Given the description of an element on the screen output the (x, y) to click on. 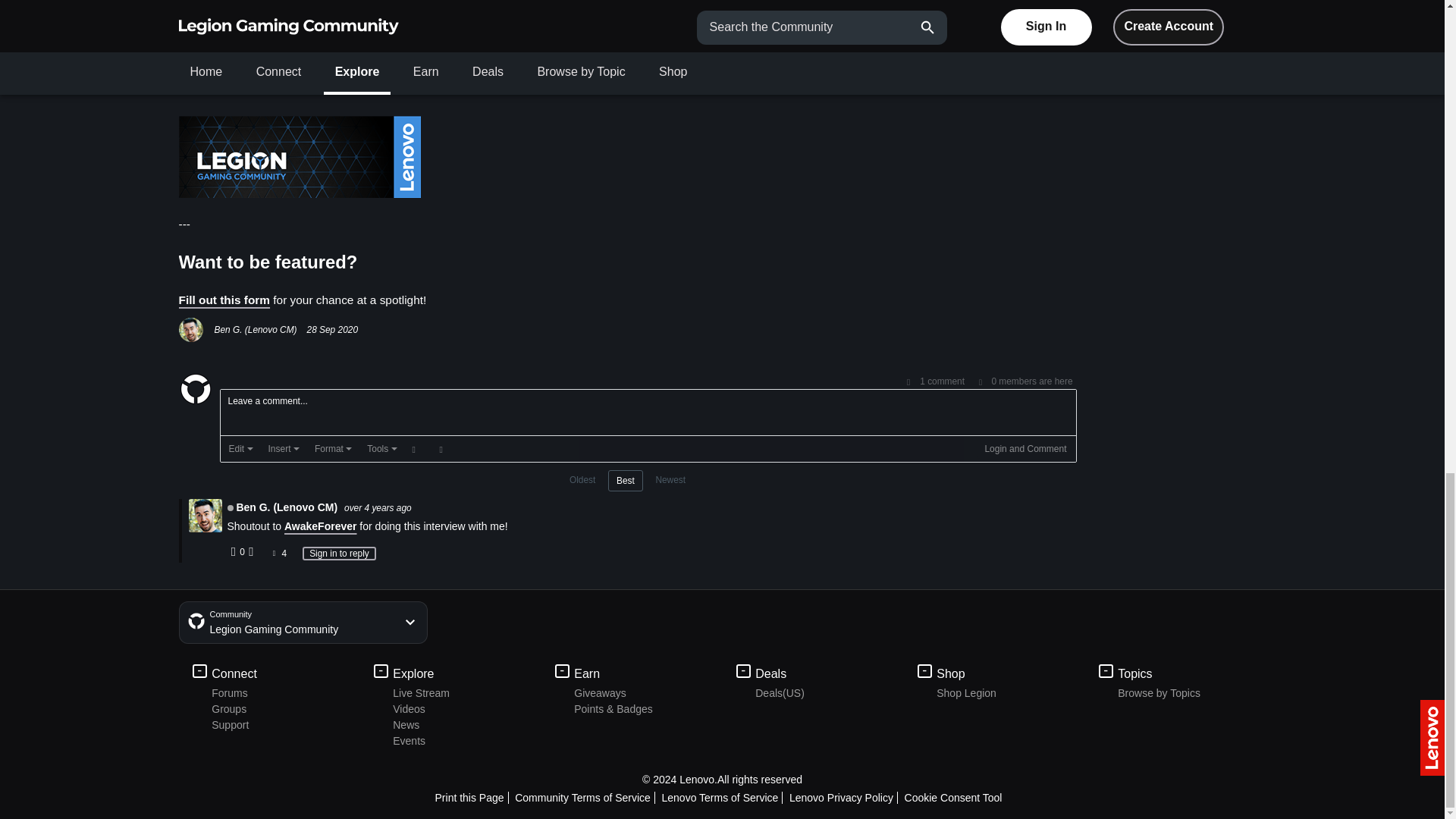
Lenovo Terms of Service (722, 797)
Fill out this form (224, 299)
Lenovo Privacy Policy (843, 797)
Print this Page (471, 797)
Community Terms of Service (585, 797)
 Cookie Consent Tool (955, 797)
